Given the description of an element on the screen output the (x, y) to click on. 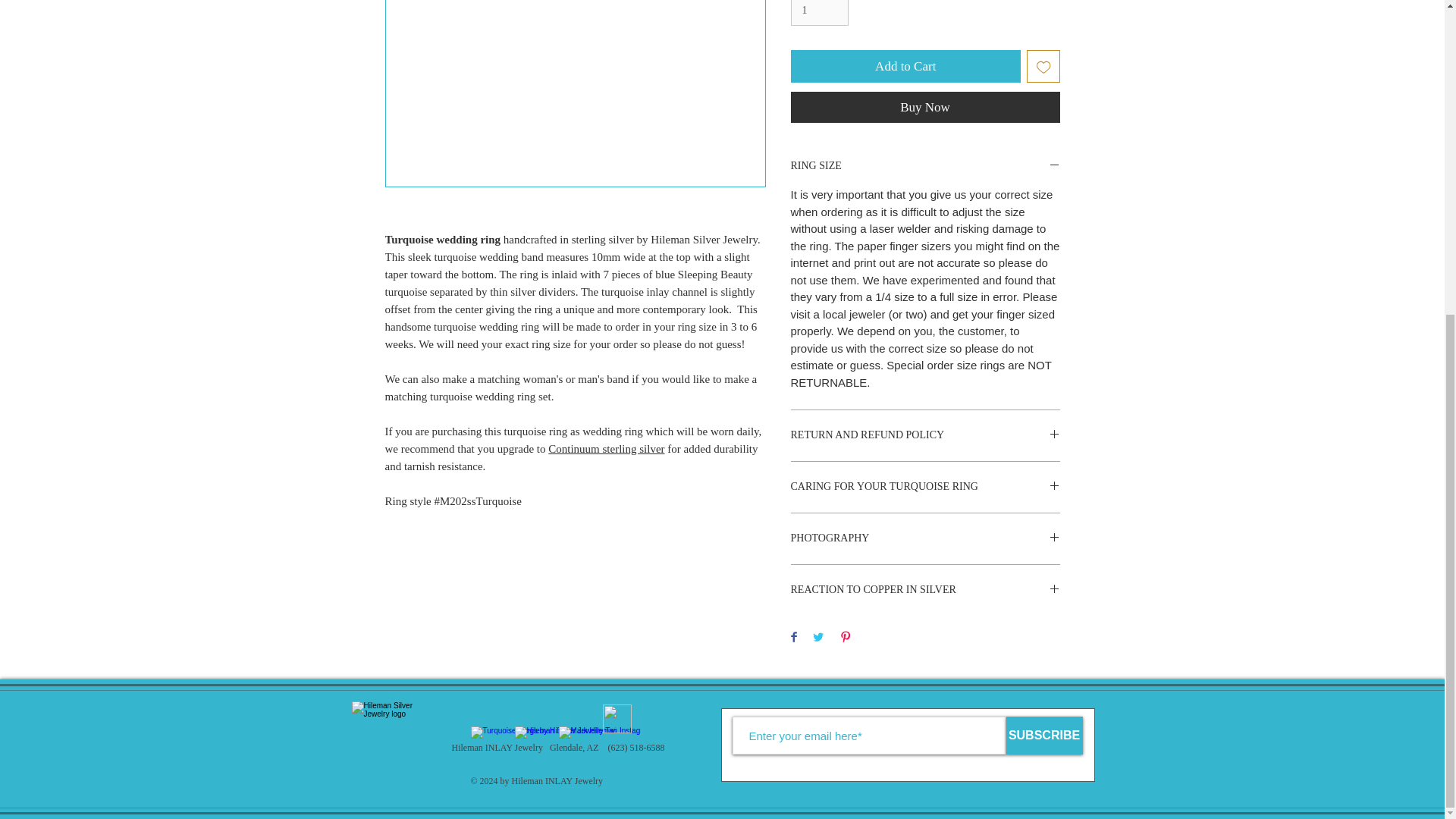
Add to Cart (905, 66)
Logo for Hileman Silver Jewelry (396, 745)
REACTION TO COPPER IN SILVER (924, 590)
RETURN AND REFUND POLICY (924, 435)
Buy Now (924, 106)
PHOTOGRAPHY (924, 538)
RING SIZE (924, 165)
1 (818, 12)
CARING FOR YOUR TURQUOISE RING (924, 486)
Continuum sterling silver (605, 449)
